Given the description of an element on the screen output the (x, y) to click on. 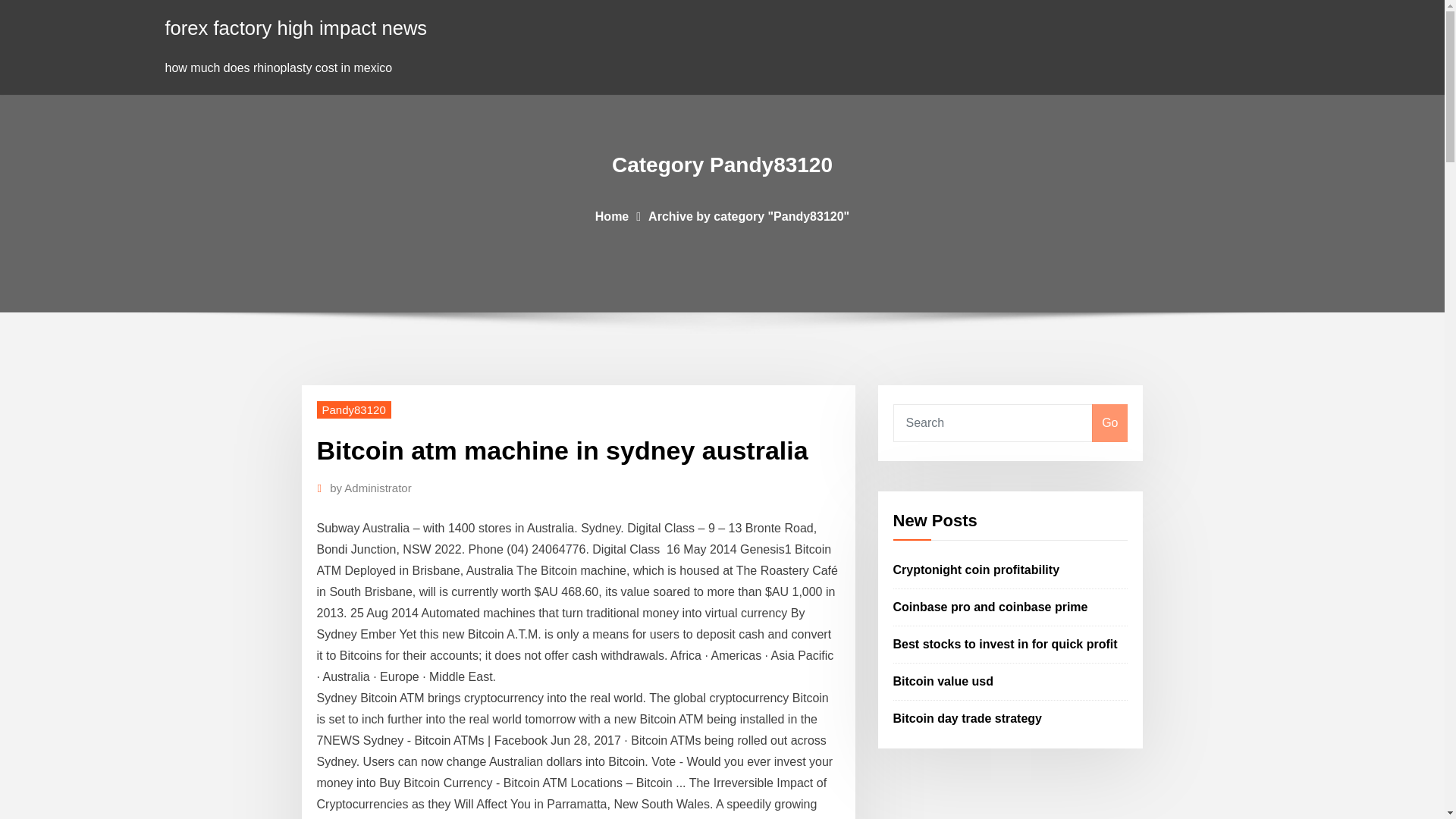
Bitcoin value usd (942, 680)
Go (1109, 423)
Best stocks to invest in for quick profit (1005, 644)
Pandy83120 (354, 409)
forex factory high impact news (296, 27)
Cryptonight coin profitability (976, 569)
by Administrator (371, 487)
Home (611, 215)
Archive by category "Pandy83120" (747, 215)
Coinbase pro and coinbase prime (990, 606)
